Given the description of an element on the screen output the (x, y) to click on. 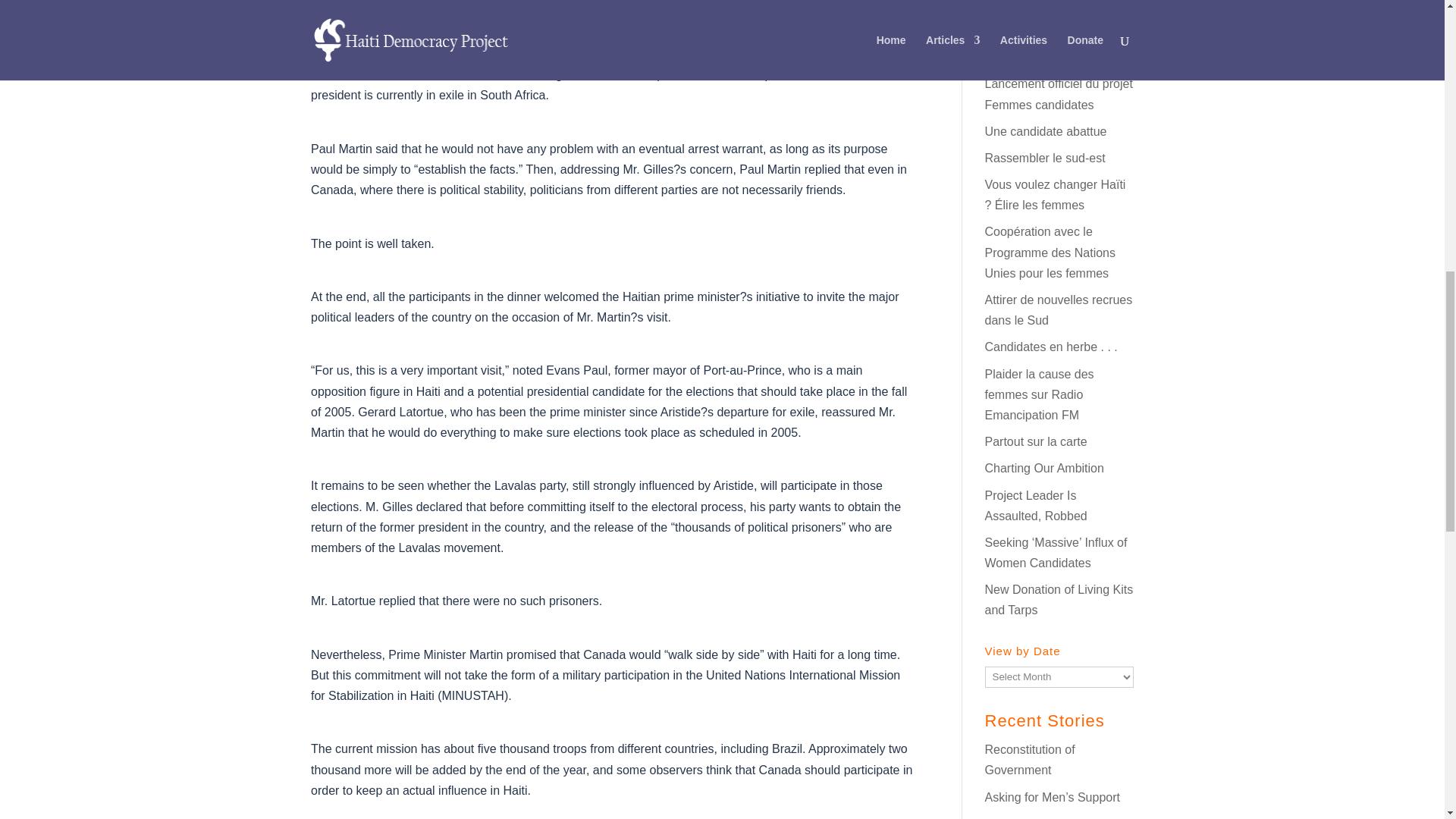
Pounding on the Door (1032, 56)
Rassembler le sud-est (1044, 157)
Une candidate abattue (1045, 131)
Lancement officiel du projet Femmes candidates (1058, 93)
